Given the description of an element on the screen output the (x, y) to click on. 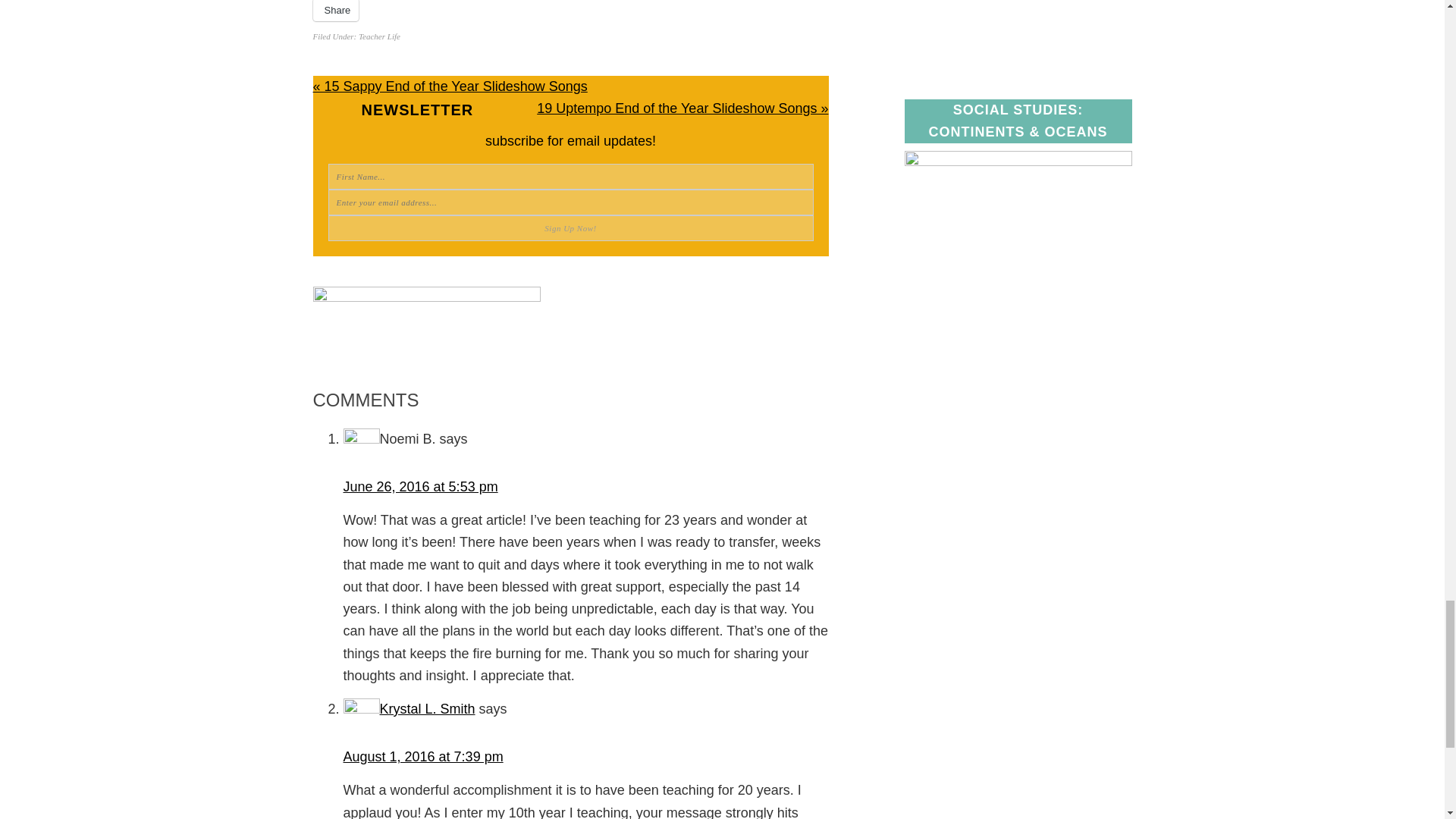
Teacher Life (379, 35)
Sign Up Now! (569, 227)
Share (335, 10)
